Given the description of an element on the screen output the (x, y) to click on. 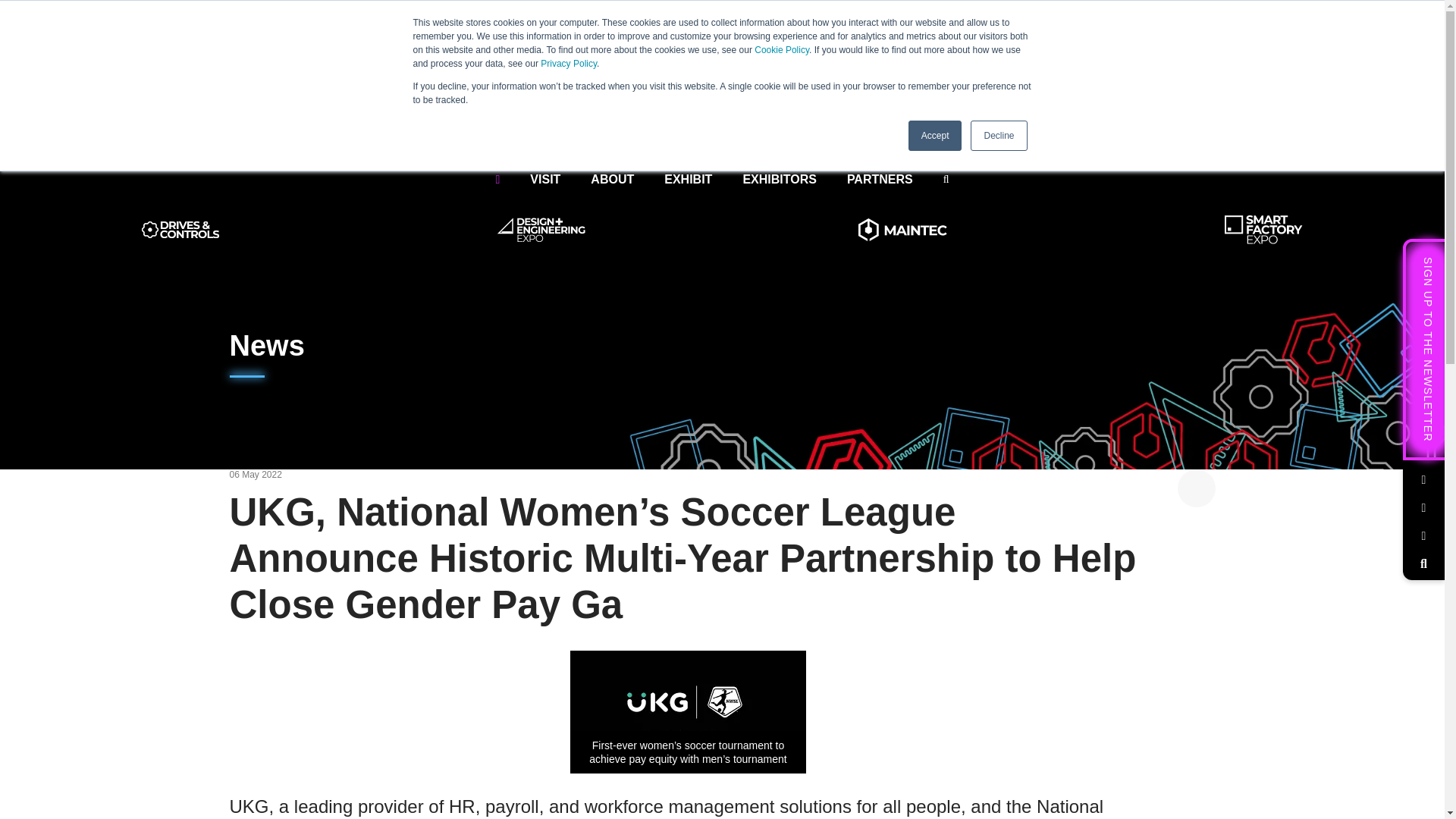
Privacy Policy (568, 63)
Decline (998, 135)
Accept (935, 135)
Cookie Policy (781, 50)
